Given the description of an element on the screen output the (x, y) to click on. 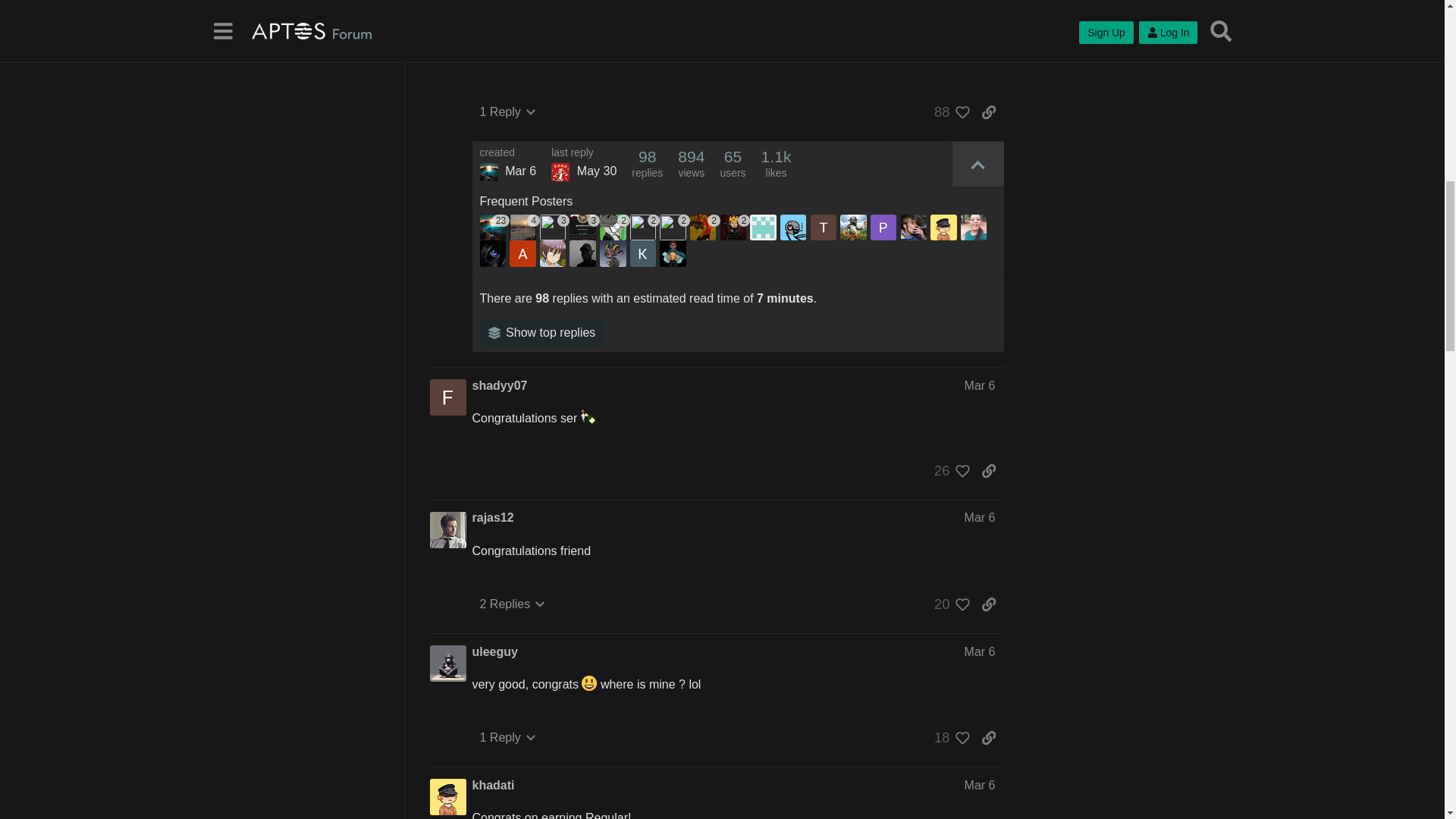
1 Reply (507, 112)
88 (947, 112)
